Given the description of an element on the screen output the (x, y) to click on. 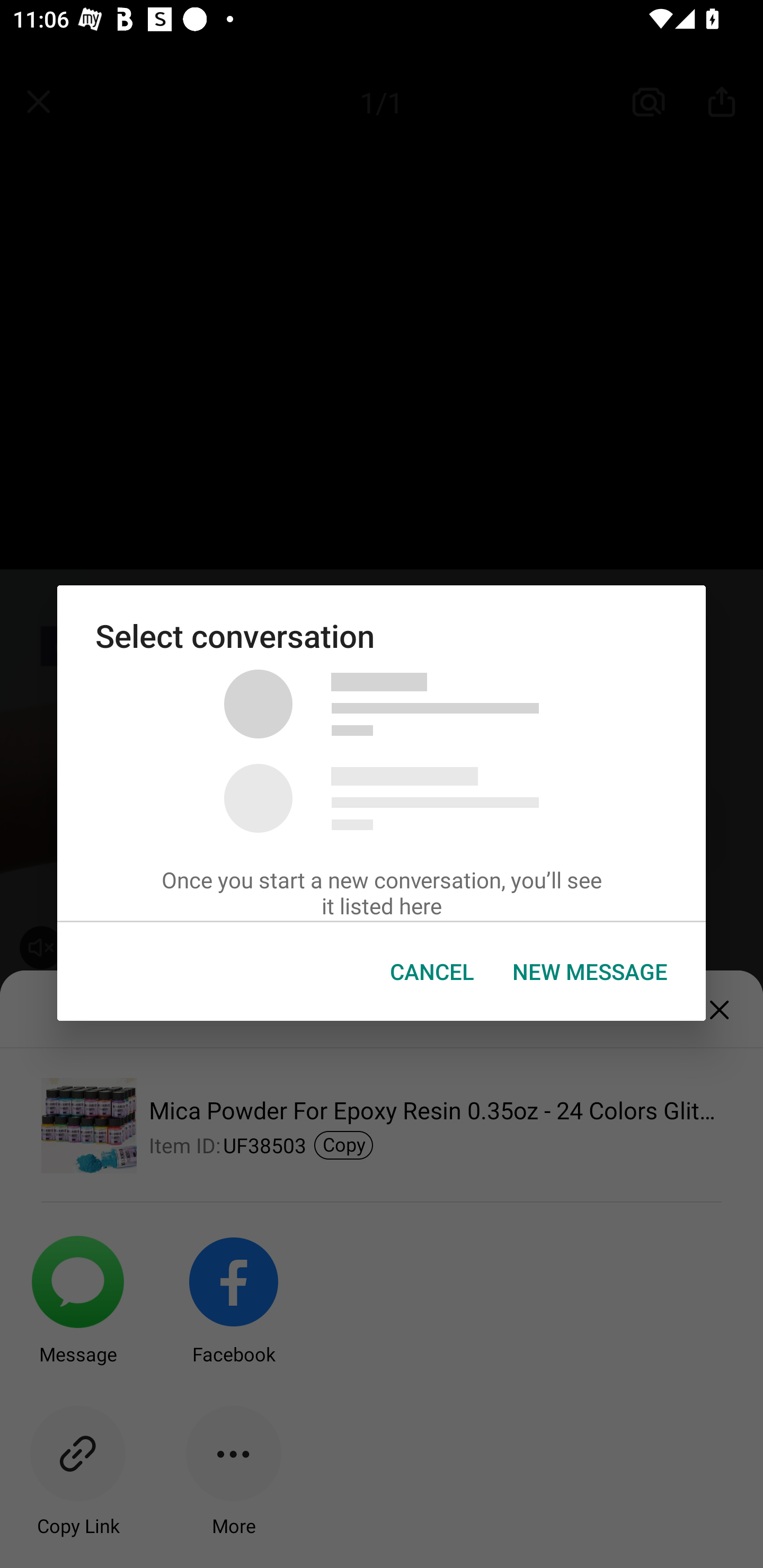
CANCEL (431, 971)
NEW MESSAGE (589, 971)
